Given the description of an element on the screen output the (x, y) to click on. 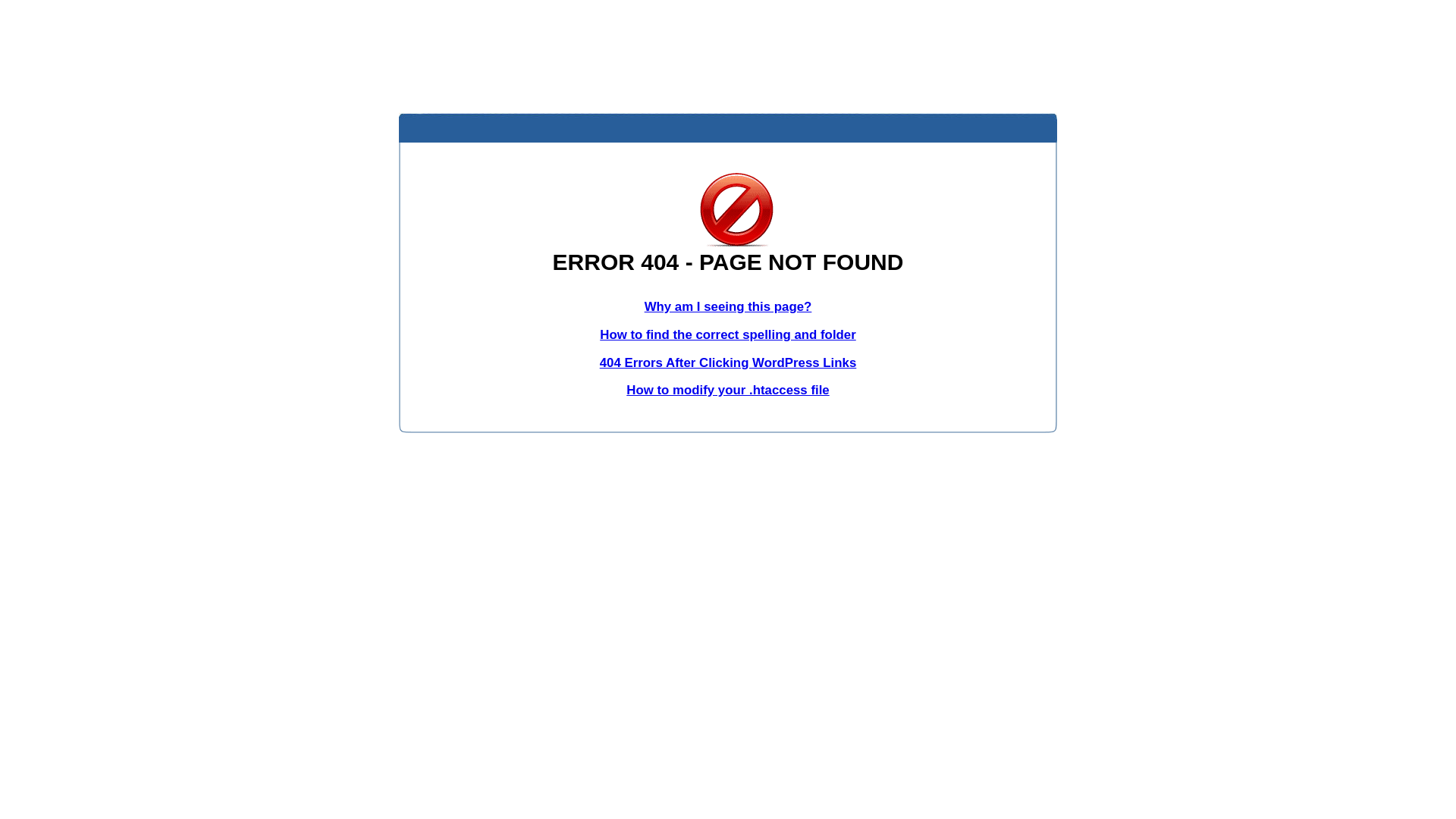
Why am I seeing this page? Element type: text (728, 306)
How to modify your .htaccess file Element type: text (727, 389)
How to find the correct spelling and folder Element type: text (727, 334)
404 Errors After Clicking WordPress Links Element type: text (727, 362)
